Given the description of an element on the screen output the (x, y) to click on. 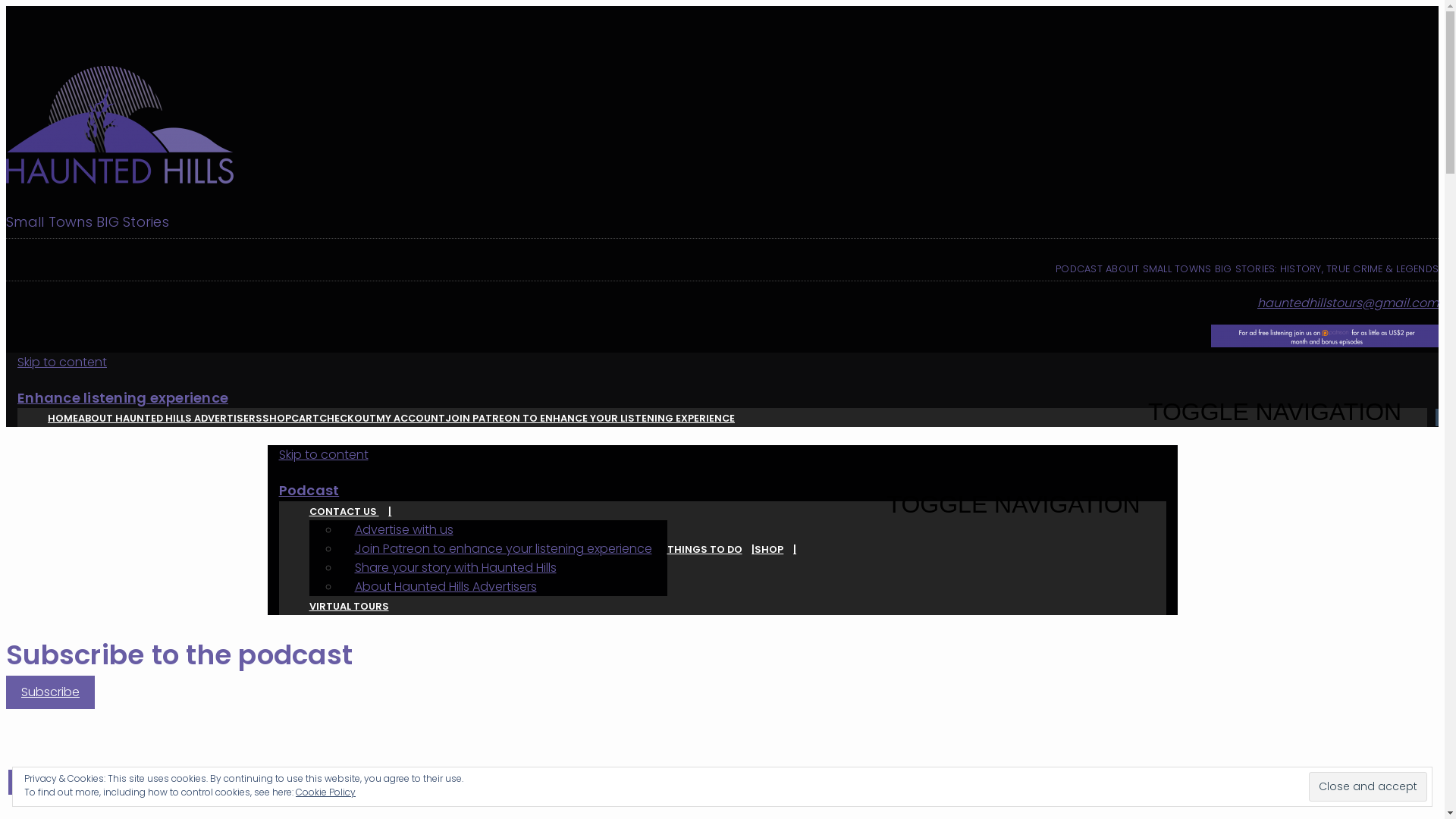
Subscribe Element type: text (50, 692)
VIRTUAL TOURS Element type: text (349, 605)
Skip to content Element type: text (61, 361)
CHECKOUT Element type: text (347, 417)
hauntedhillstours@gmail.com Element type: text (1347, 302)
About Haunted Hills Advertisers Element type: text (445, 586)
home Element type: hover (722, 127)
SHOP Element type: text (276, 417)
Enhance listening experience Element type: text (122, 397)
Skip to content Element type: text (323, 454)
TOGGLE NAVIGATION   Element type: text (1019, 504)
TOGGLE NAVIGATION   Element type: text (1281, 411)
JOIN PATREON TO ENHANCE YOUR LISTENING EXPERIENCE Element type: text (589, 417)
Join Patreon to enhance your listening experience Element type: text (503, 548)
Cookie Policy Element type: text (325, 791)
ABOUT HAUNTED HILLS ADVERTISERS Element type: text (170, 417)
THINGS TO DO Element type: text (711, 548)
MY ACCOUNT Element type: text (410, 417)
CONTACT US Element type: text (350, 511)
SHOP Element type: text (775, 548)
CART Element type: text (305, 417)
Advertise with us Element type: text (403, 529)
HOME Element type: text (62, 417)
Share your story with Haunted Hills Element type: text (455, 567)
Close and accept Element type: text (1367, 786)
Podcast Element type: text (309, 489)
